Given the description of an element on the screen output the (x, y) to click on. 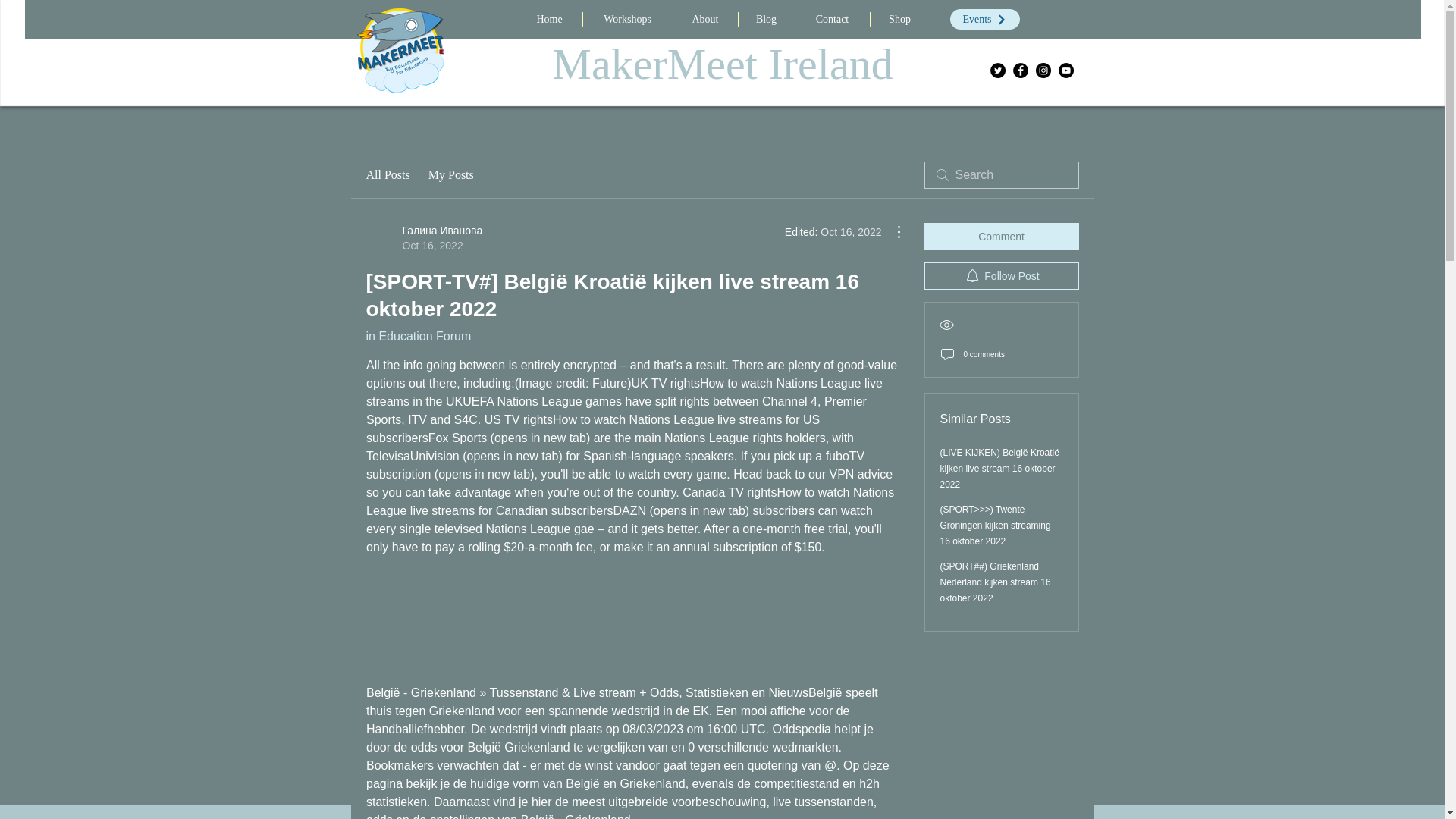
Workshops (626, 19)
Shop (900, 19)
Contact (831, 19)
About (705, 19)
Homepage (400, 49)
Comment (1000, 236)
in Education Forum (417, 336)
Follow Post (1000, 275)
All Posts (387, 175)
Blog (766, 19)
